Given the description of an element on the screen output the (x, y) to click on. 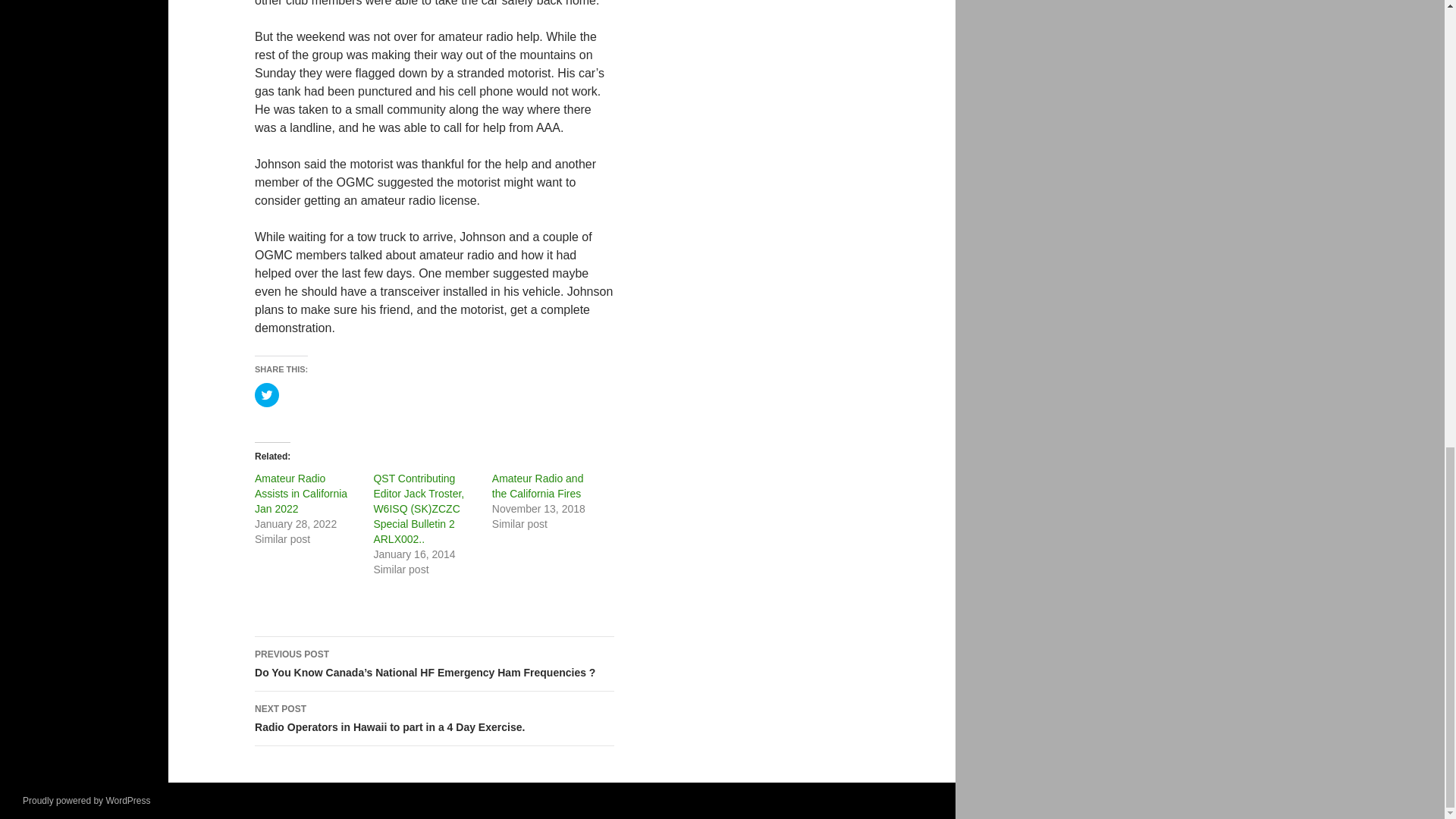
Proudly powered by WordPress (87, 800)
Amateur Radio Assists in California Jan 2022 (300, 493)
Amateur Radio Assists in California Jan 2022 (300, 493)
Amateur Radio and the California Fires (537, 485)
Click to share on Twitter (266, 395)
Amateur Radio and the California Fires (537, 485)
